Given the description of an element on the screen output the (x, y) to click on. 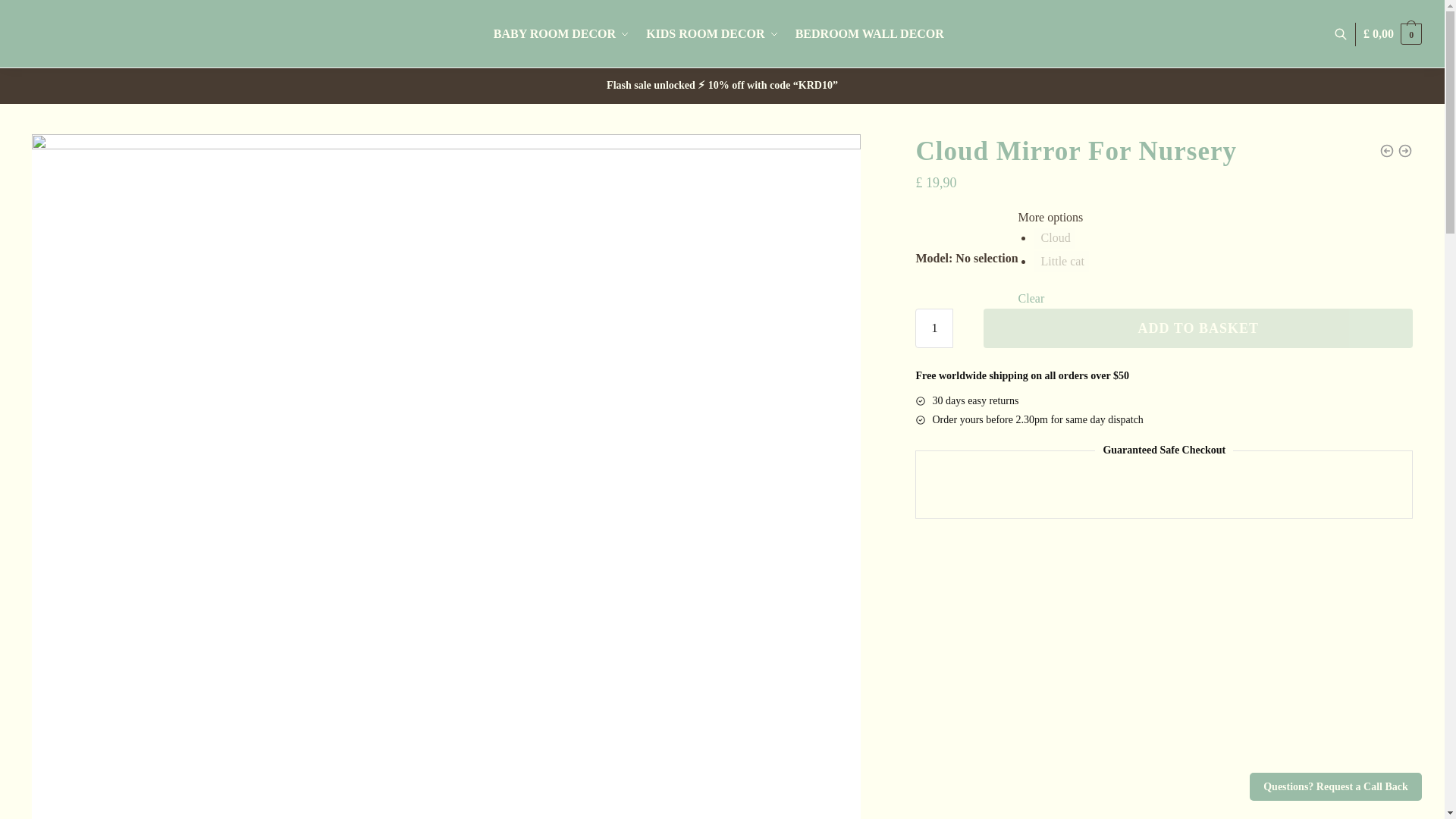
BEDROOM WALL DECOR (869, 33)
Search (447, 234)
View your shopping cart (1392, 33)
KIDS ROOM DECOR (711, 33)
Cloud (1054, 237)
1 (934, 328)
BABY ROOM DECOR (564, 33)
